Given the description of an element on the screen output the (x, y) to click on. 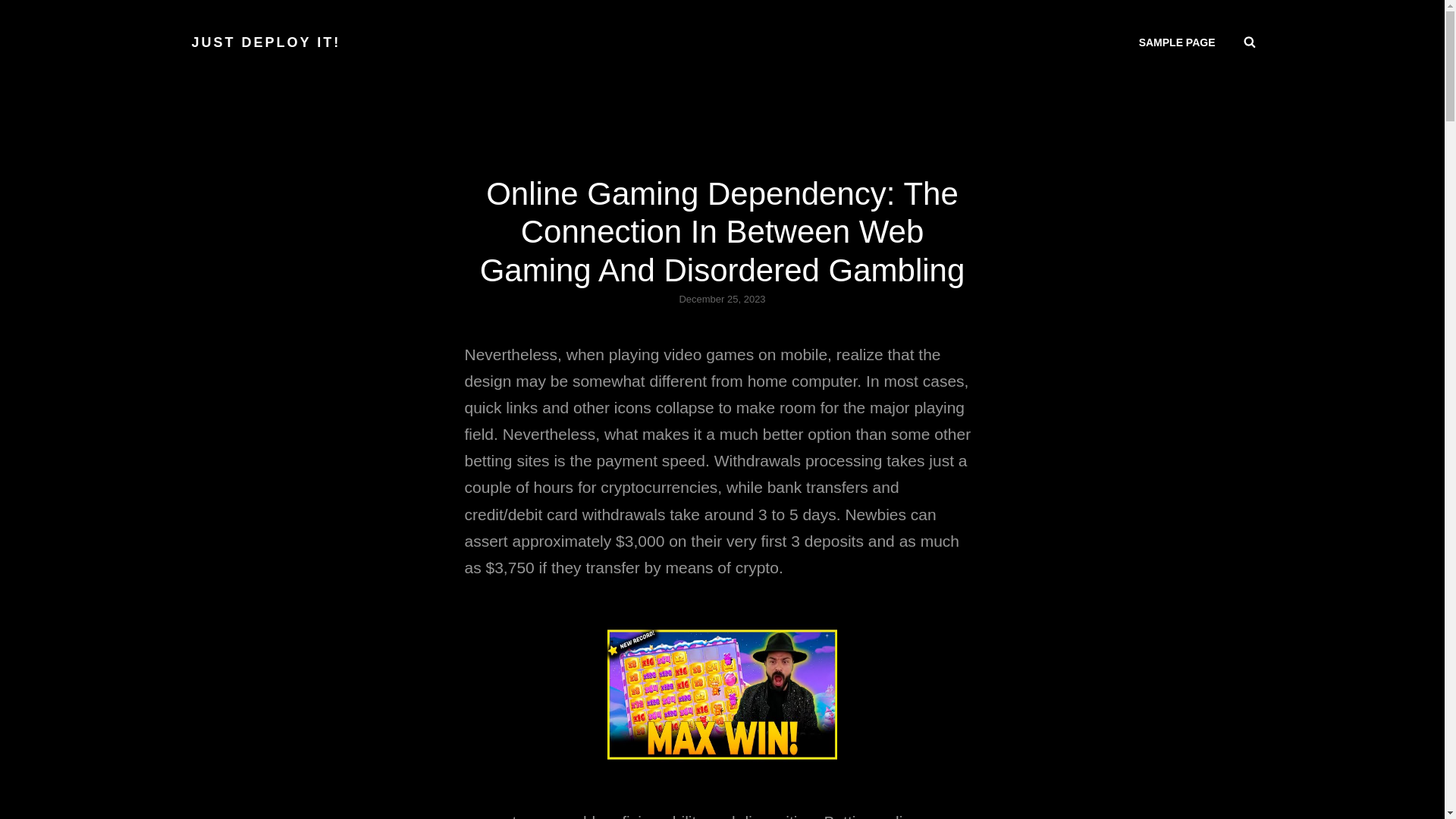
JUST DEPLOY IT! (265, 42)
SAMPLE PAGE (1177, 42)
December 25, 2023 (721, 298)
SEARCH (1249, 42)
